Given the description of an element on the screen output the (x, y) to click on. 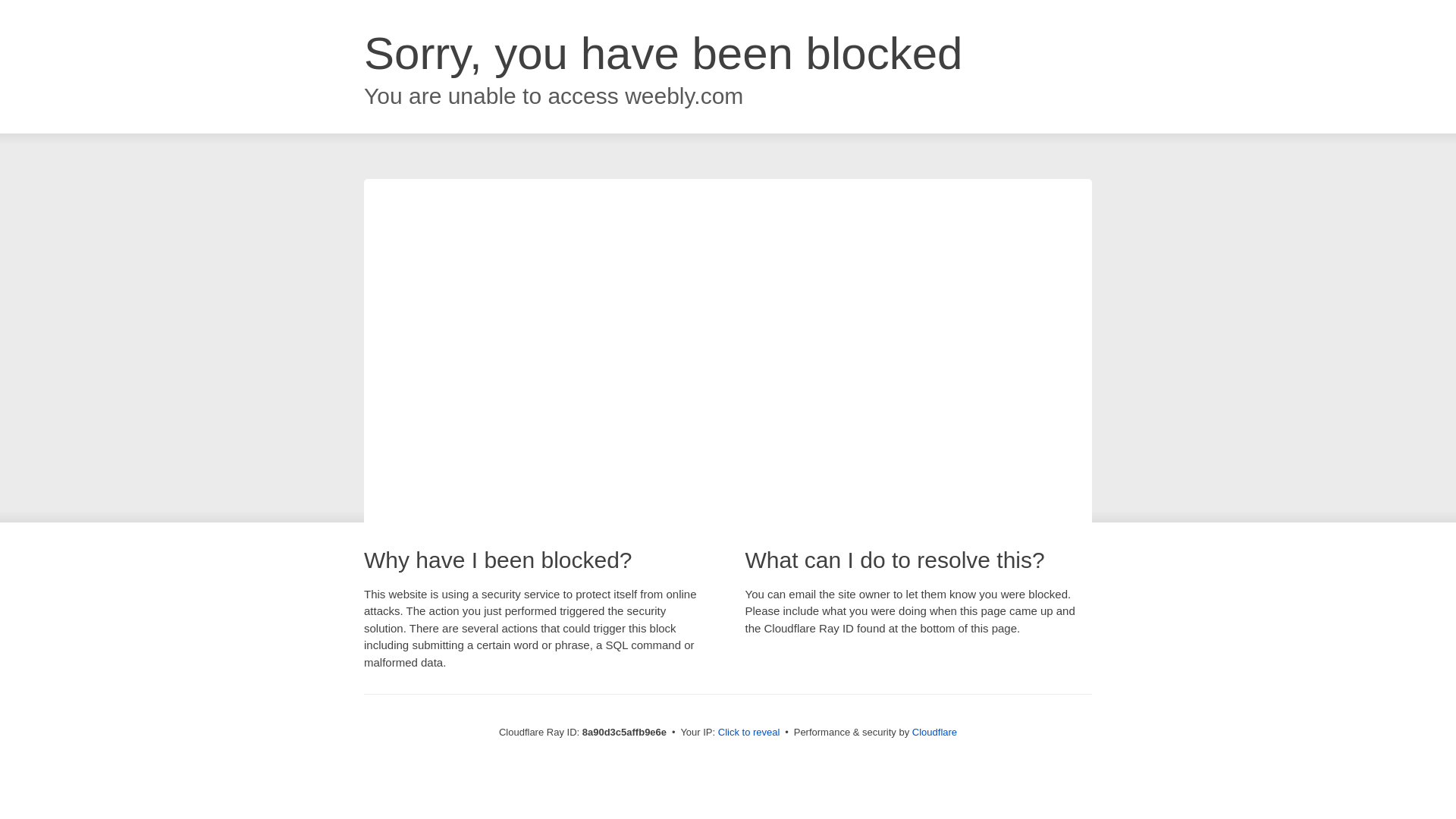
Click to reveal (748, 732)
Cloudflare (934, 731)
